Given the description of an element on the screen output the (x, y) to click on. 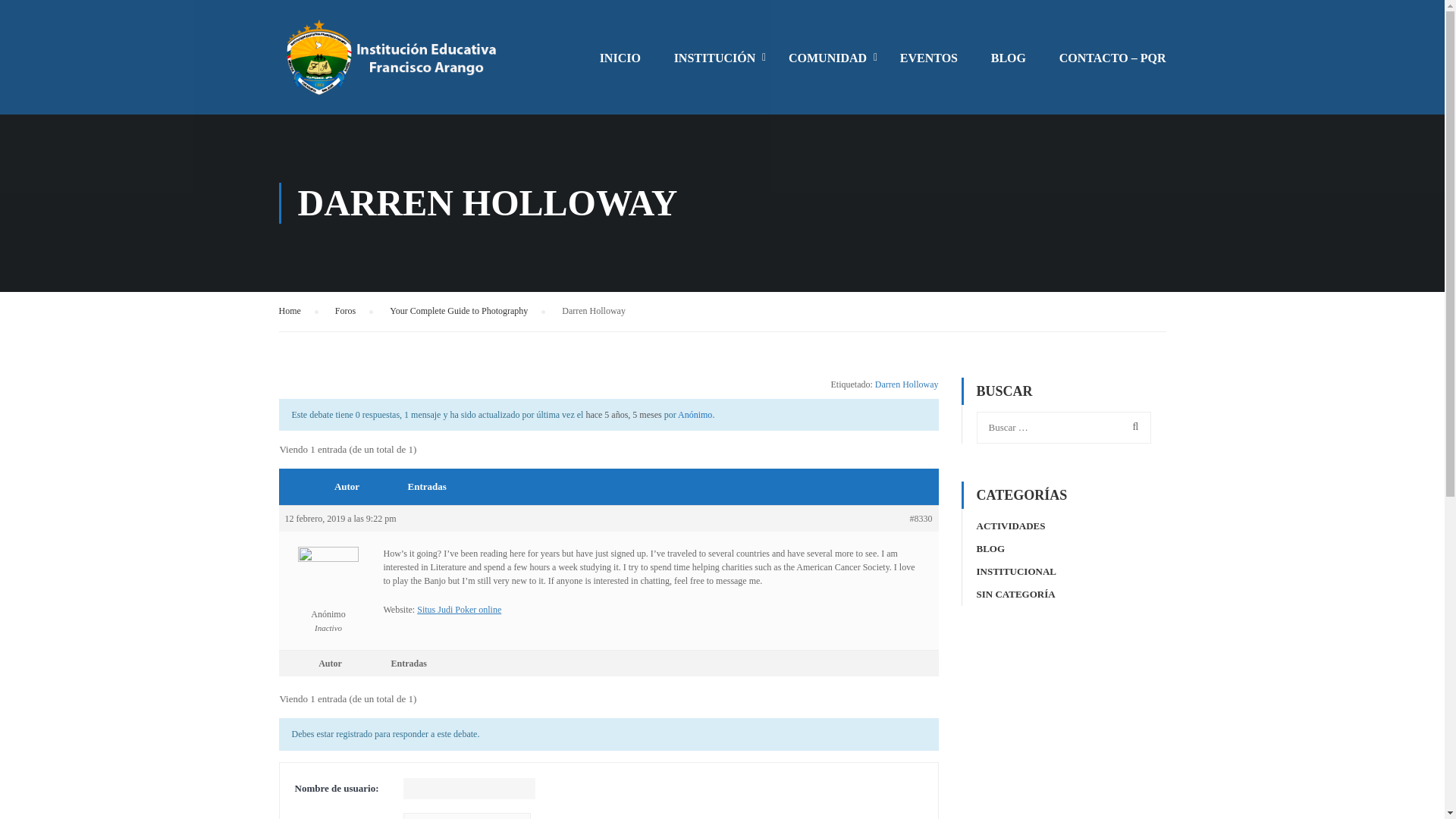
Your Complete Guide to Photography (458, 311)
EVENTOS (928, 64)
INSTITUCIONAL (1016, 571)
INICIO (620, 64)
Darren Holloway (623, 414)
Darren Holloway (907, 384)
Situs Judi Poker online (458, 609)
Home (290, 311)
Foros (344, 311)
ACTIVIDADES (1010, 525)
COMUNIDAD (827, 64)
BLOG (1008, 64)
Buscar (1132, 427)
Buscar (1132, 427)
BLOG (991, 548)
